Given the description of an element on the screen output the (x, y) to click on. 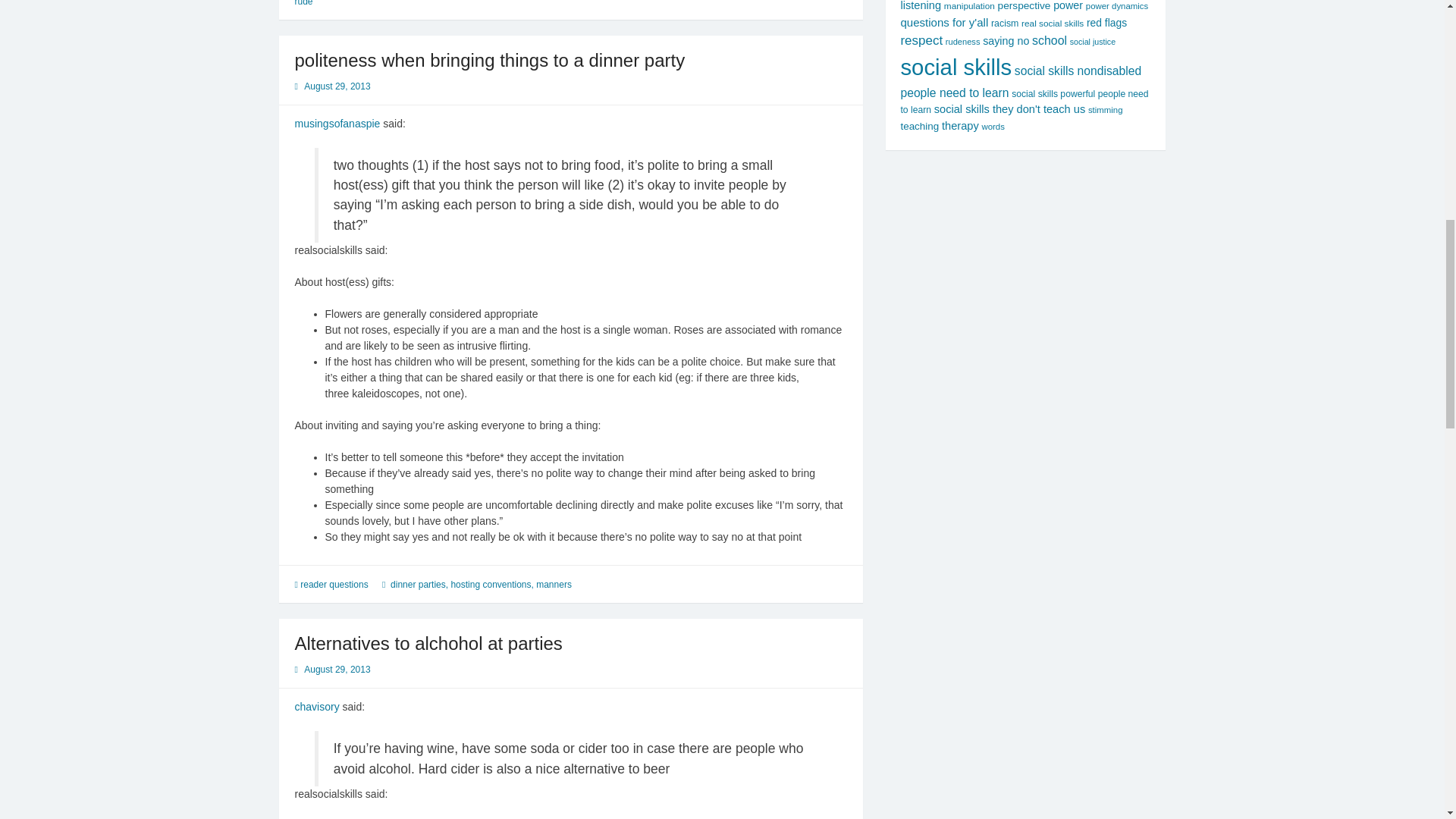
Alternatives to alchohol at parties (428, 643)
dinner parties (417, 584)
August 29, 2013 (336, 669)
manners (553, 584)
chavisory's post-it notes (316, 706)
August 29, 2013 (336, 86)
hosting conventions (490, 584)
reader questions (333, 584)
Musings of an Aspie (337, 123)
politeness when bringing things to a dinner party (489, 59)
